Given the description of an element on the screen output the (x, y) to click on. 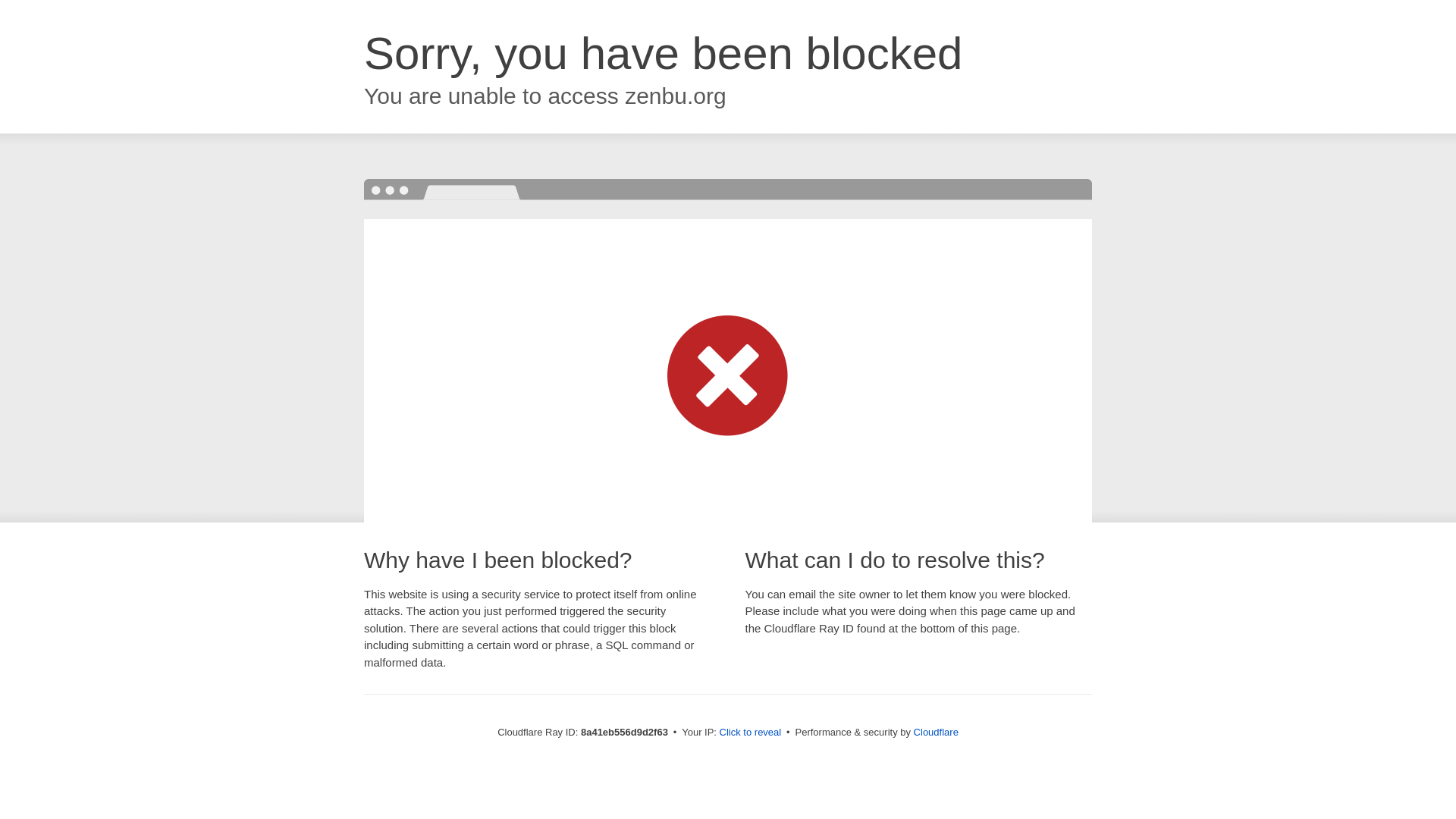
Cloudflare (936, 731)
Click to reveal (750, 732)
